Given the description of an element on the screen output the (x, y) to click on. 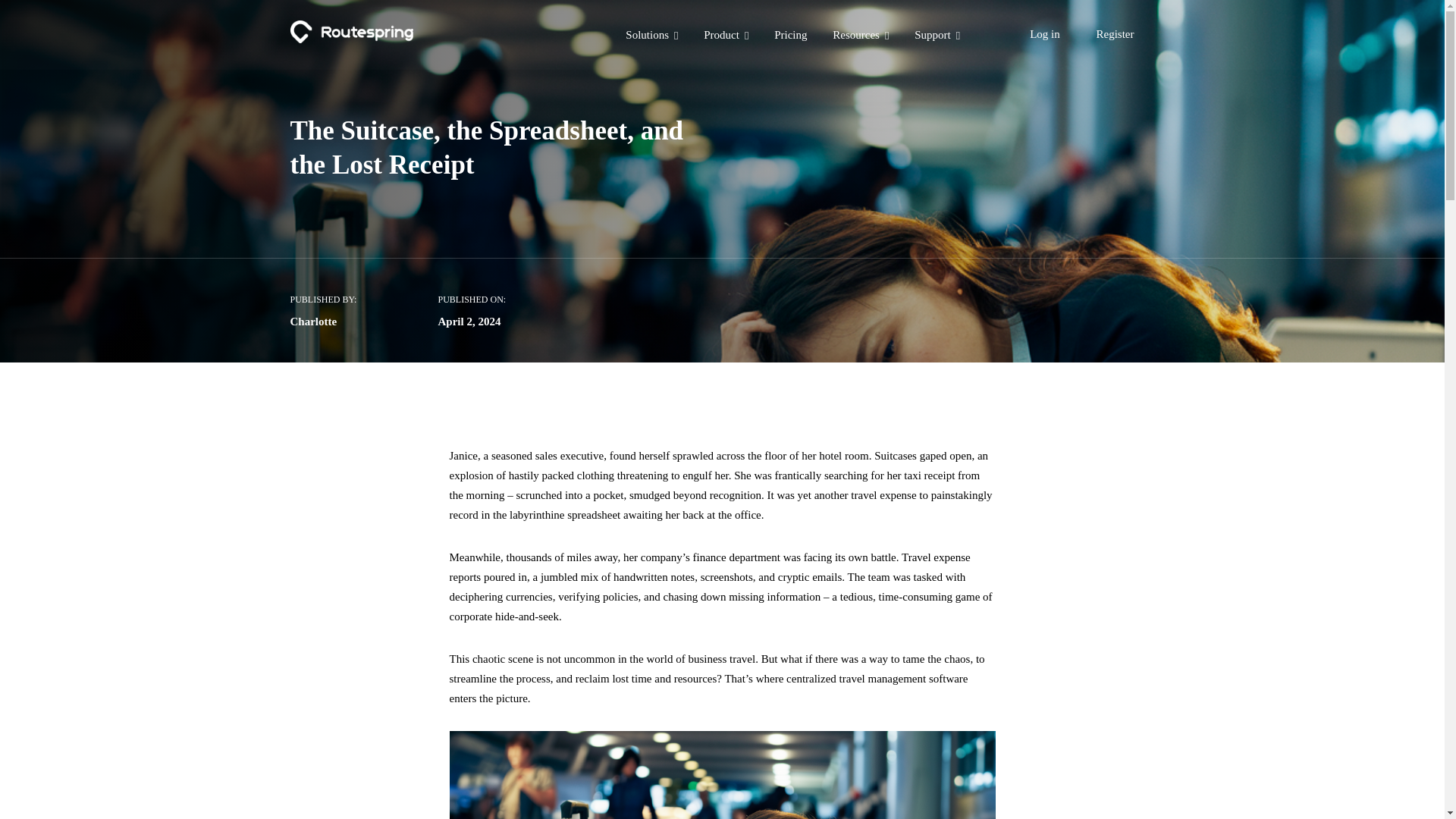
Log in (1044, 34)
Support (936, 36)
Product (725, 36)
Resources (860, 36)
Register (1114, 34)
Pricing (790, 36)
Solutions (652, 36)
